Given the description of an element on the screen output the (x, y) to click on. 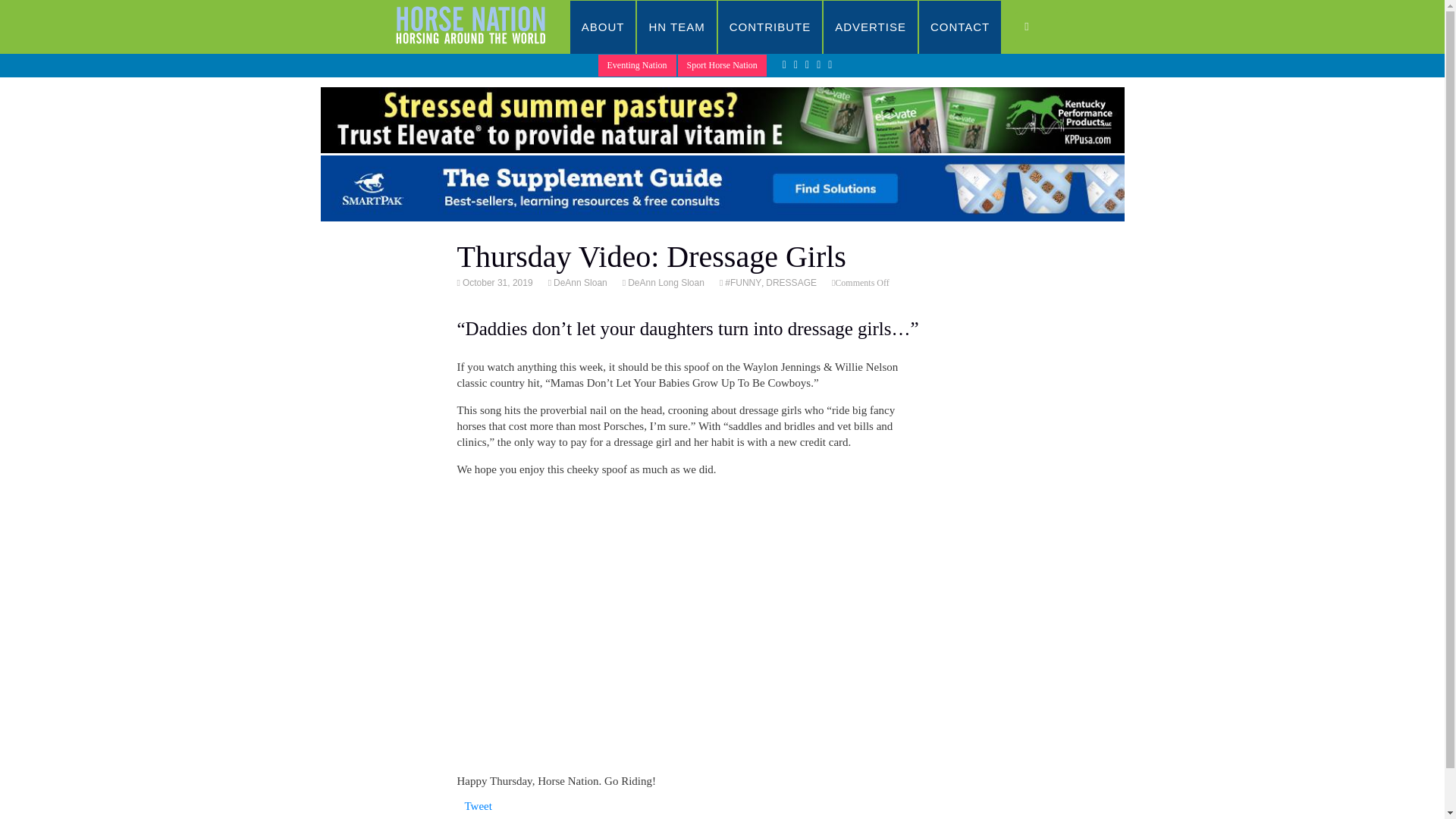
View all posts by DeAnn Sloan (579, 282)
October 31, 2019 (496, 282)
DeAnn Long Sloan (665, 282)
Tweet (478, 806)
DeAnn Sloan (579, 282)
CONTRIBUTE (769, 27)
HN TEAM (676, 27)
SEARCH (1041, 27)
CONTACT (959, 27)
DRESSAGE (790, 282)
